Given the description of an element on the screen output the (x, y) to click on. 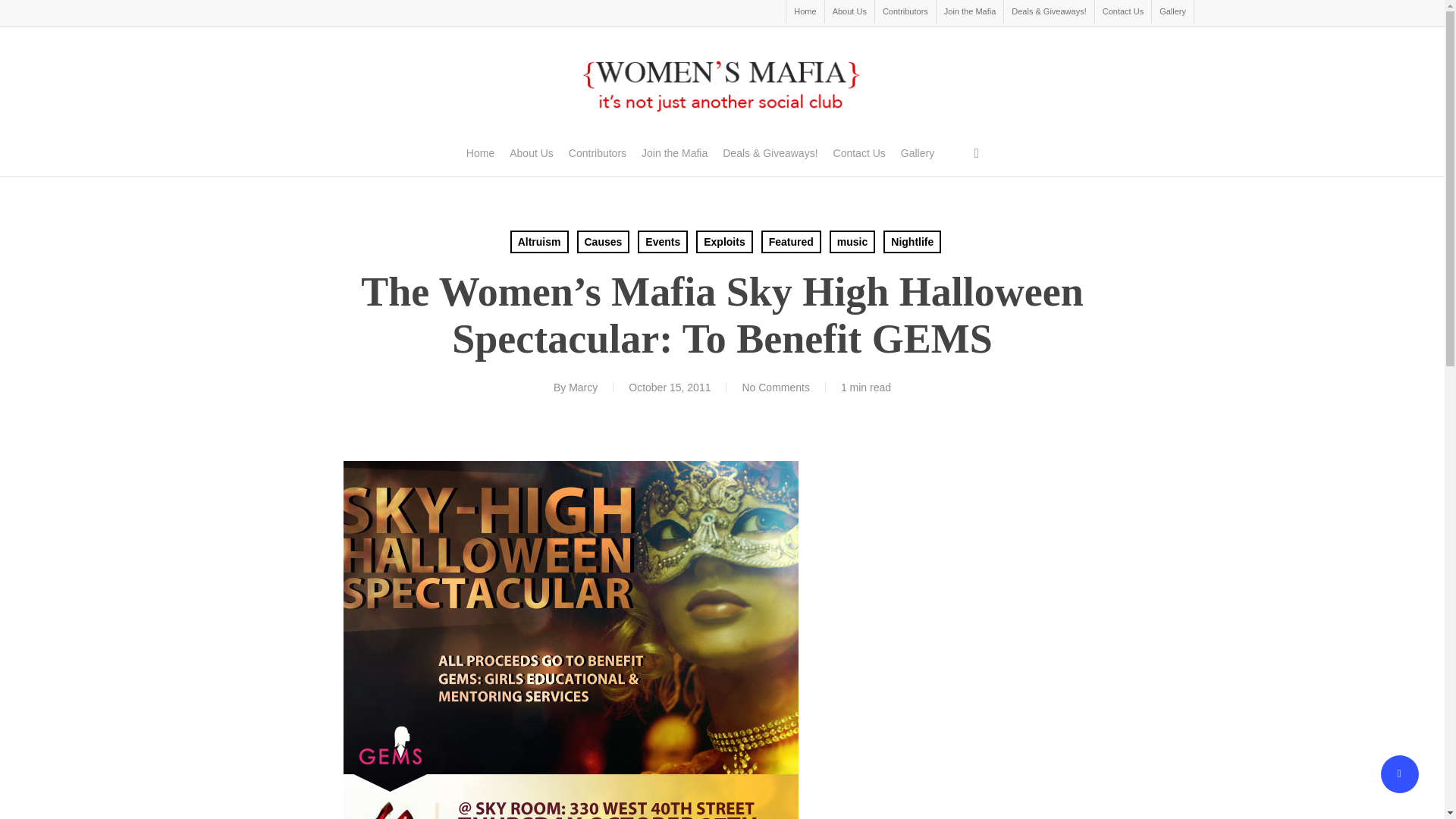
Contact Us (858, 152)
Gallery (1172, 11)
About Us (849, 11)
Join the Mafia (969, 11)
Home (805, 11)
Home (480, 152)
Join the Mafia (674, 152)
About Us (531, 152)
Contributors (905, 11)
